Given the description of an element on the screen output the (x, y) to click on. 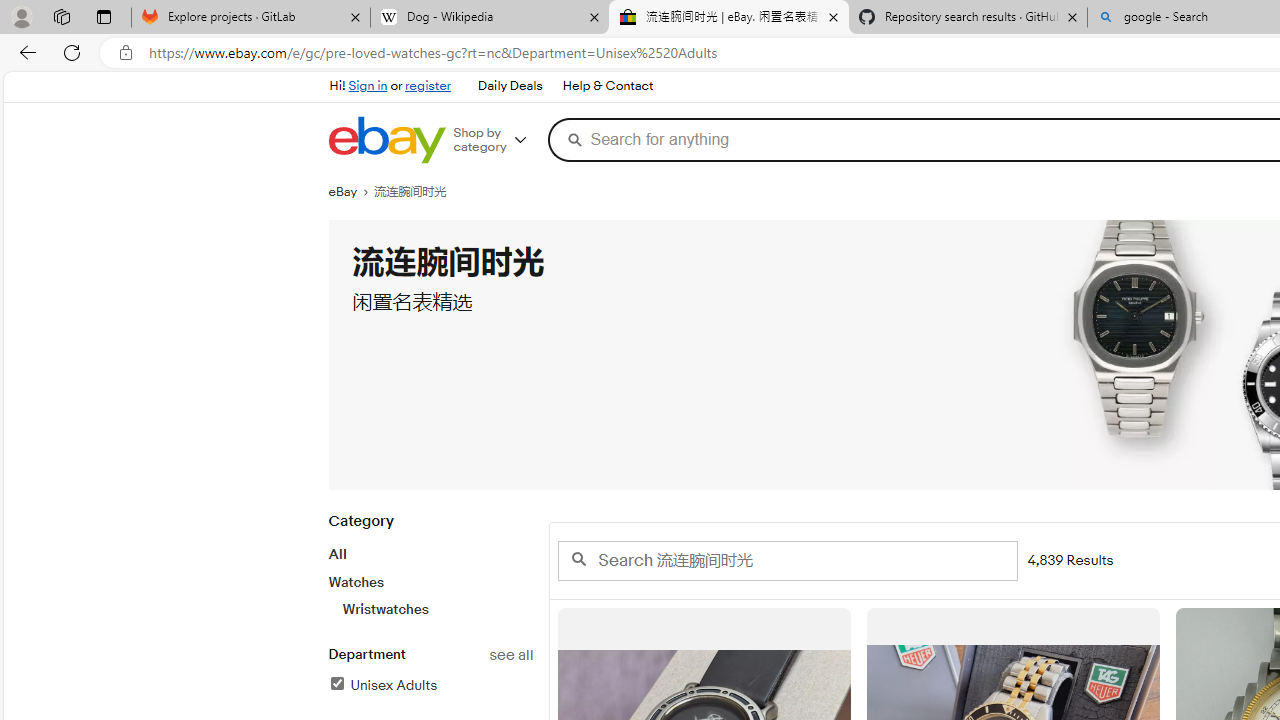
Enter your search keyword (786, 560)
All (336, 554)
Help & Contact (607, 86)
register (427, 85)
Unisex AdultsFilter Applied (430, 686)
WatchesWristwatches (430, 595)
See all department refinements (510, 655)
Dog - Wikipedia (490, 17)
Daily Deals (509, 85)
